Given the description of an element on the screen output the (x, y) to click on. 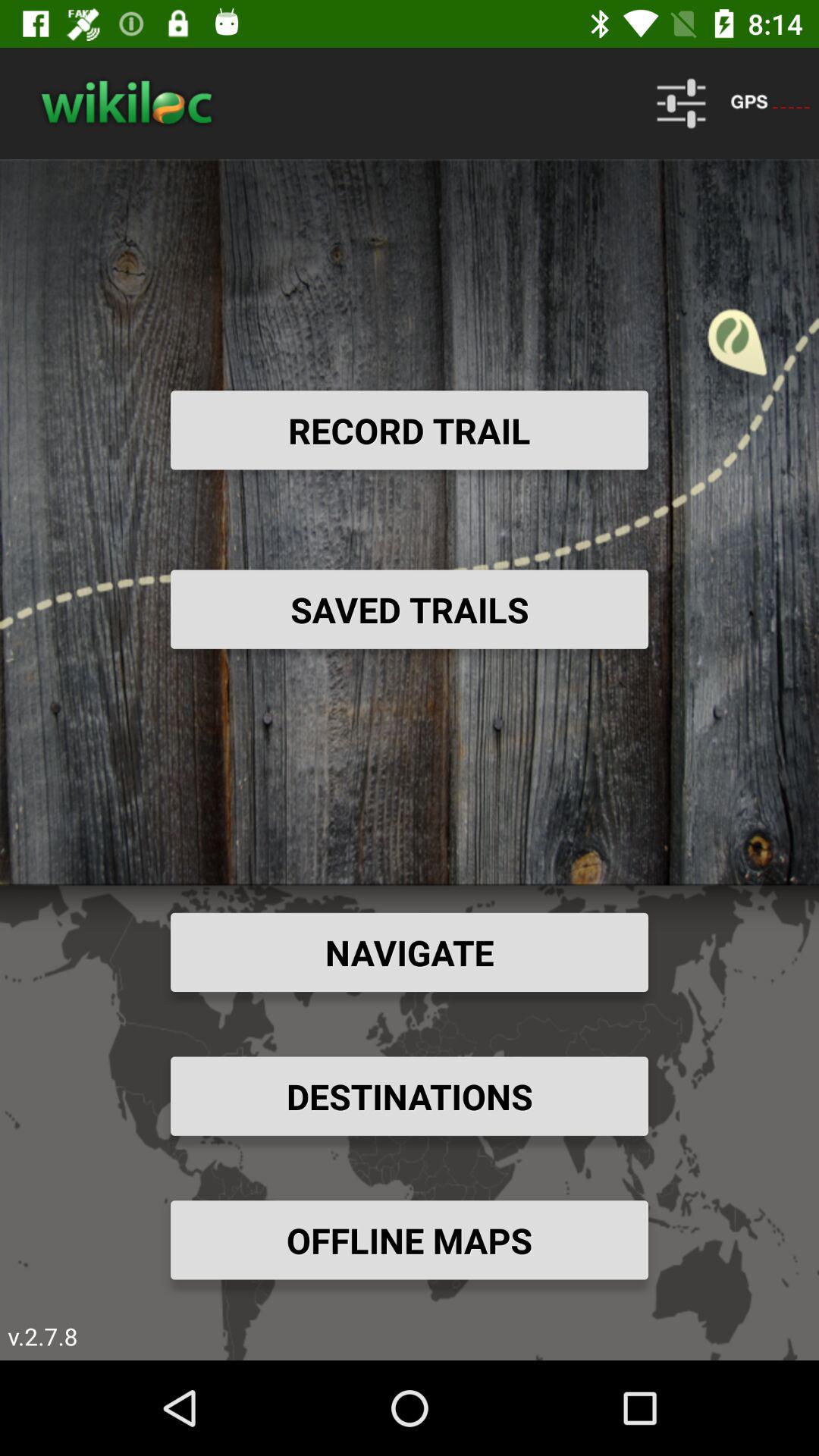
choose item below saved trails item (409, 951)
